Given the description of an element on the screen output the (x, y) to click on. 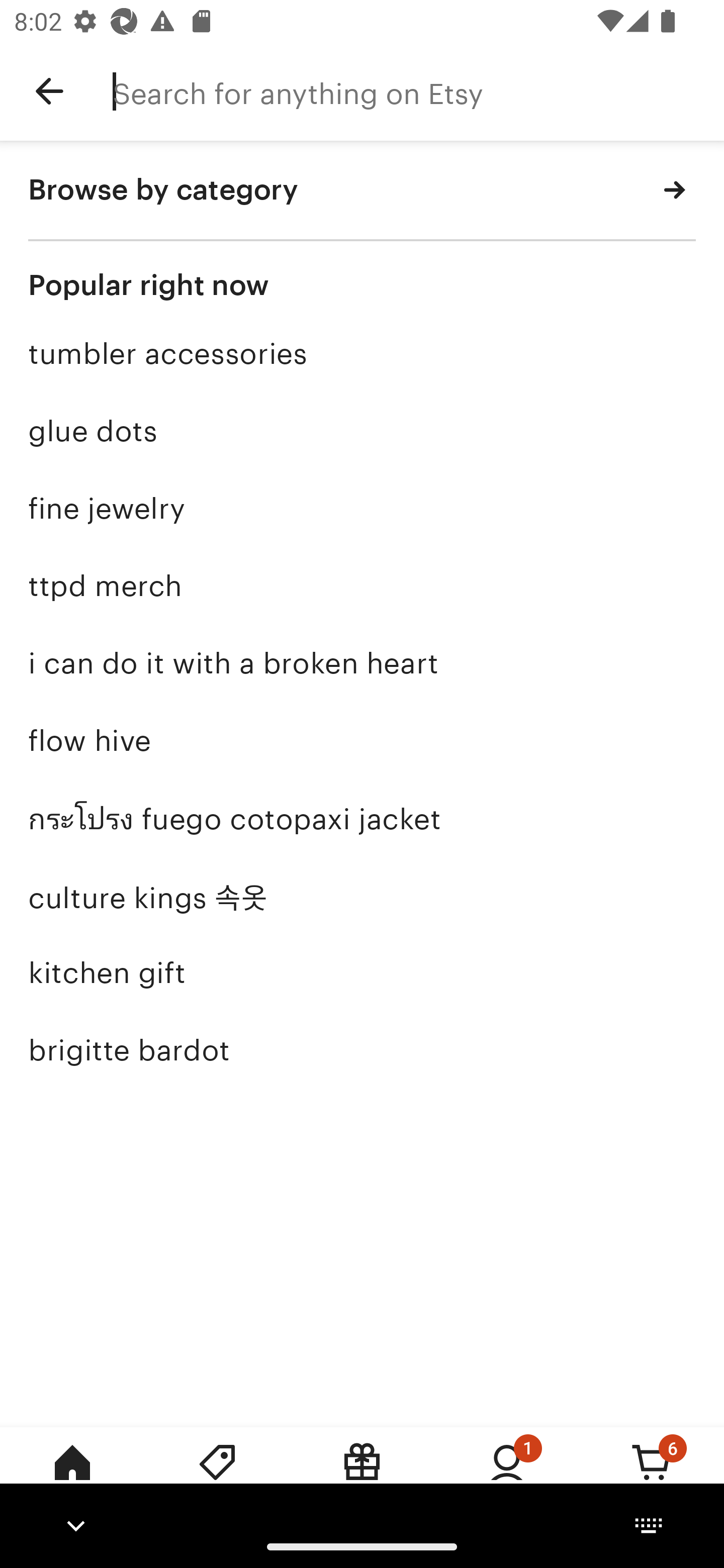
Navigate up (49, 91)
Search for anything on Etsy (418, 91)
Browse by category (362, 191)
tumbler accessories (362, 353)
glue dots (362, 431)
fine jewelry (362, 508)
ttpd merch (362, 585)
i can do it with a broken heart (362, 663)
flow hive (362, 740)
กระโปรง fuego cotopaxi jacket (362, 817)
culture kings 속옷 (362, 895)
kitchen gift (362, 972)
brigitte bardot (362, 1050)
Deals (216, 1475)
Gift Mode (361, 1475)
You, 1 new notification (506, 1475)
Cart, 6 new notifications (651, 1475)
